Given the description of an element on the screen output the (x, y) to click on. 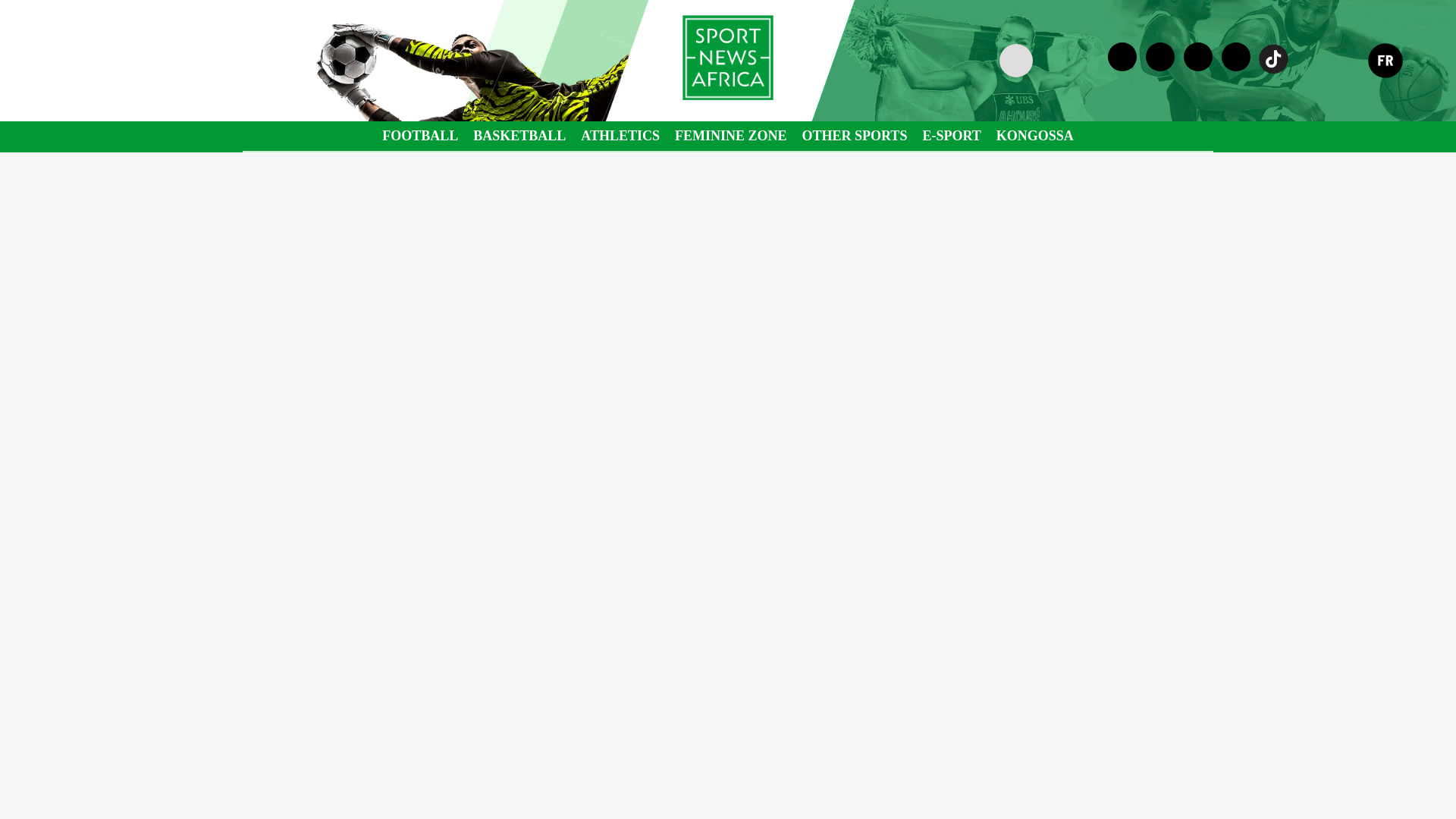
BASKETBALL (519, 135)
FEMININE ZONE (730, 135)
FOOTBALL (419, 135)
ATHLETICS (619, 135)
KONGOSSA (1034, 135)
OTHER SPORTS (853, 135)
E-SPORT (951, 135)
